Given the description of an element on the screen output the (x, y) to click on. 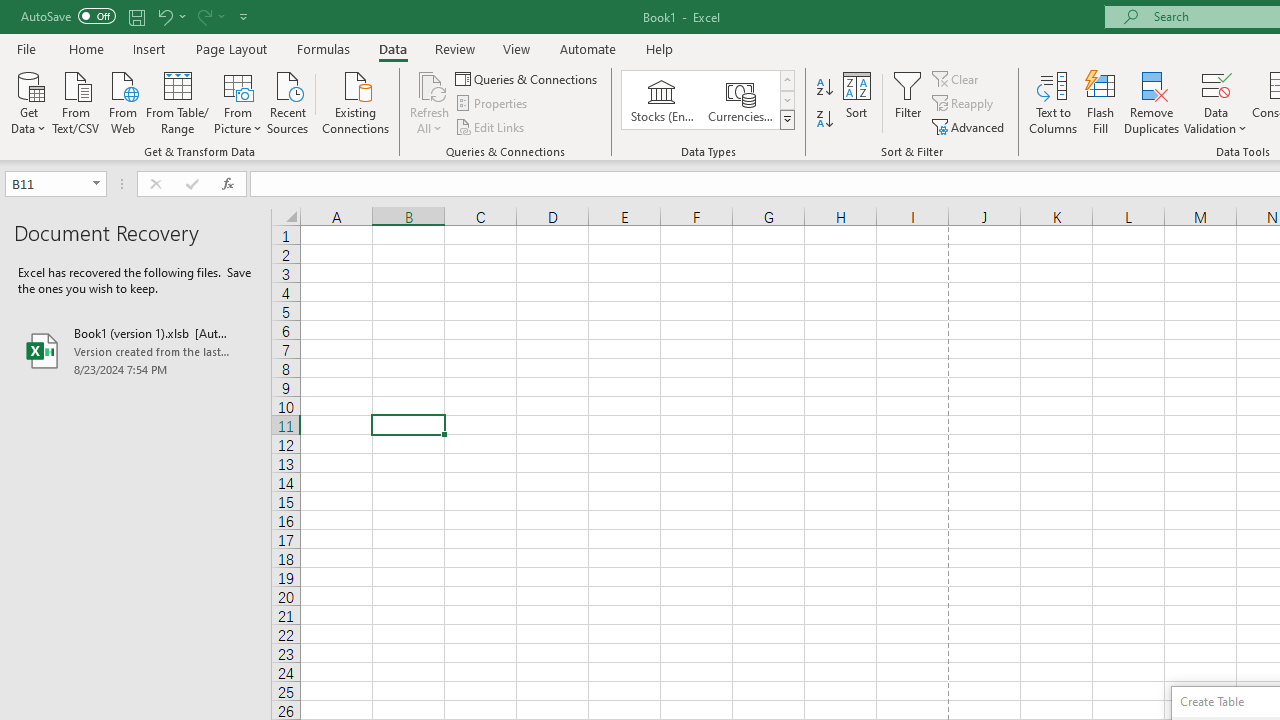
Redo (203, 15)
Properties (492, 103)
Quick Access Toolbar (136, 16)
Edit Links (491, 126)
Row Down (786, 100)
From Web (122, 101)
Insert (149, 48)
AutomationID: ConvertToLinkedEntity (708, 99)
Help (660, 48)
More Options (1215, 121)
Data Types (786, 120)
Data Validation... (1215, 84)
Undo (170, 15)
Text to Columns... (1053, 102)
Customize Quick Access Toolbar (244, 15)
